Given the description of an element on the screen output the (x, y) to click on. 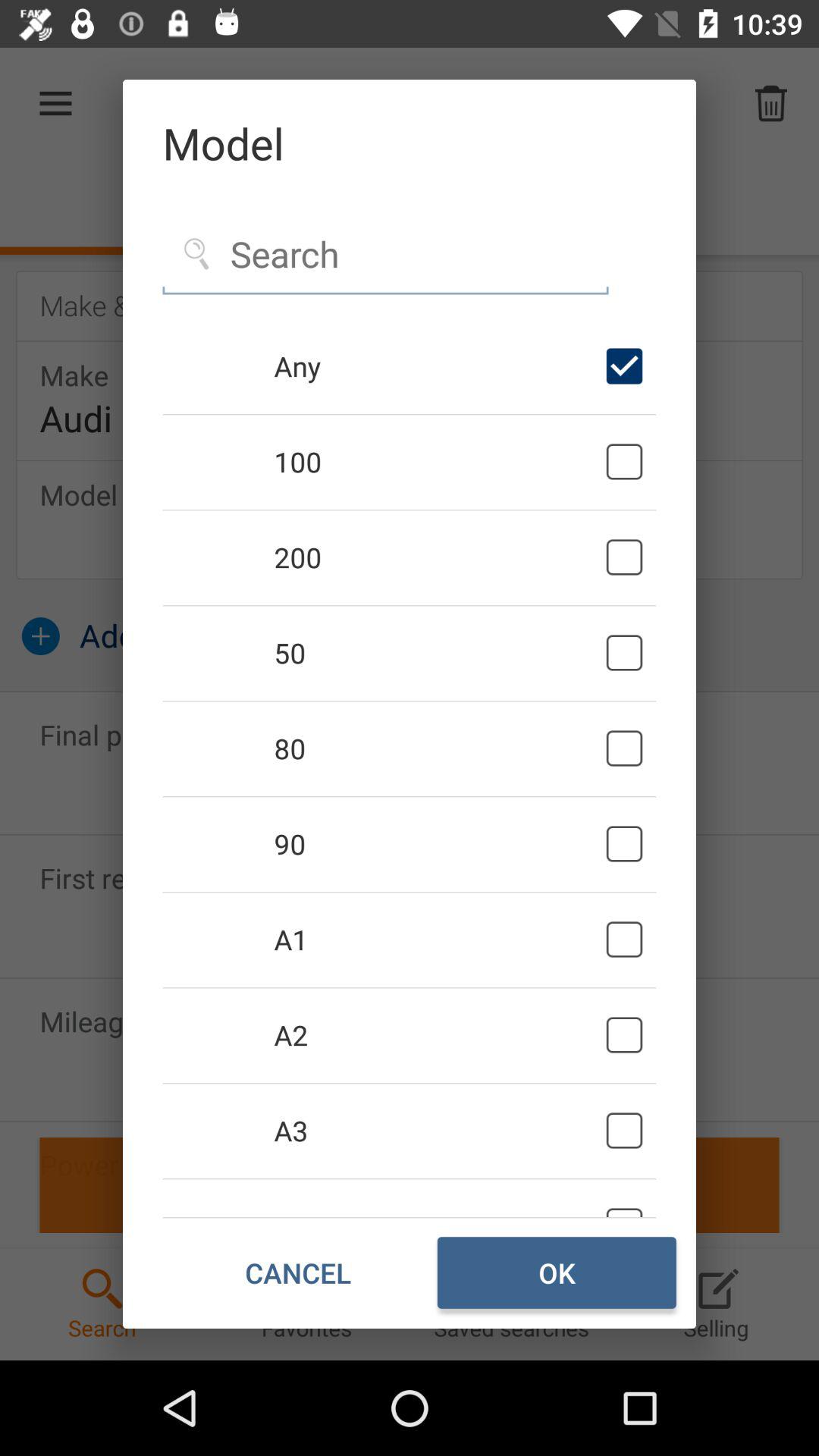
turn on the item below 100 (437, 557)
